Given the description of an element on the screen output the (x, y) to click on. 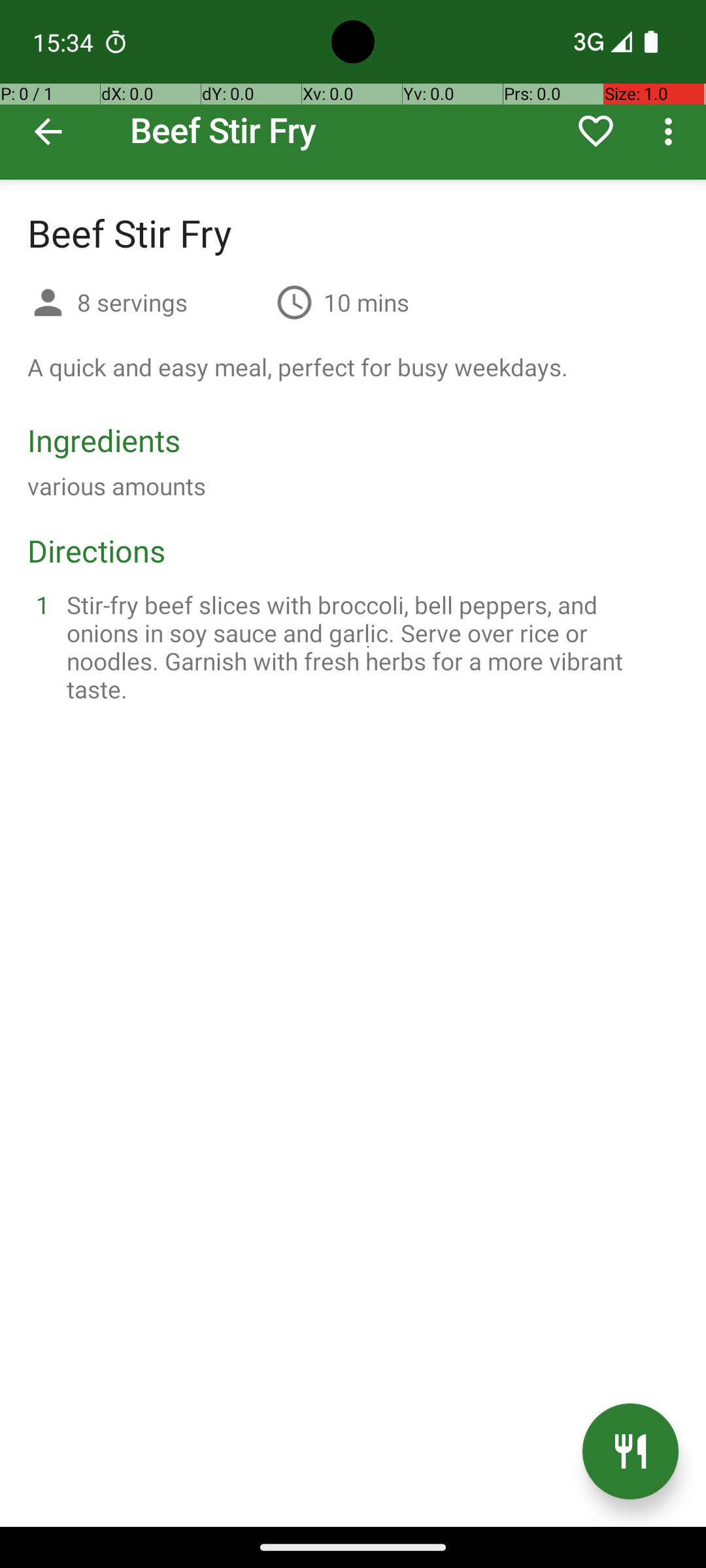
Stir-fry beef slices with broccoli, bell peppers, and onions in soy sauce and garlic. Serve over rice or noodles. Garnish with fresh herbs for a more vibrant taste. Element type: android.widget.TextView (368, 646)
